Given the description of an element on the screen output the (x, y) to click on. 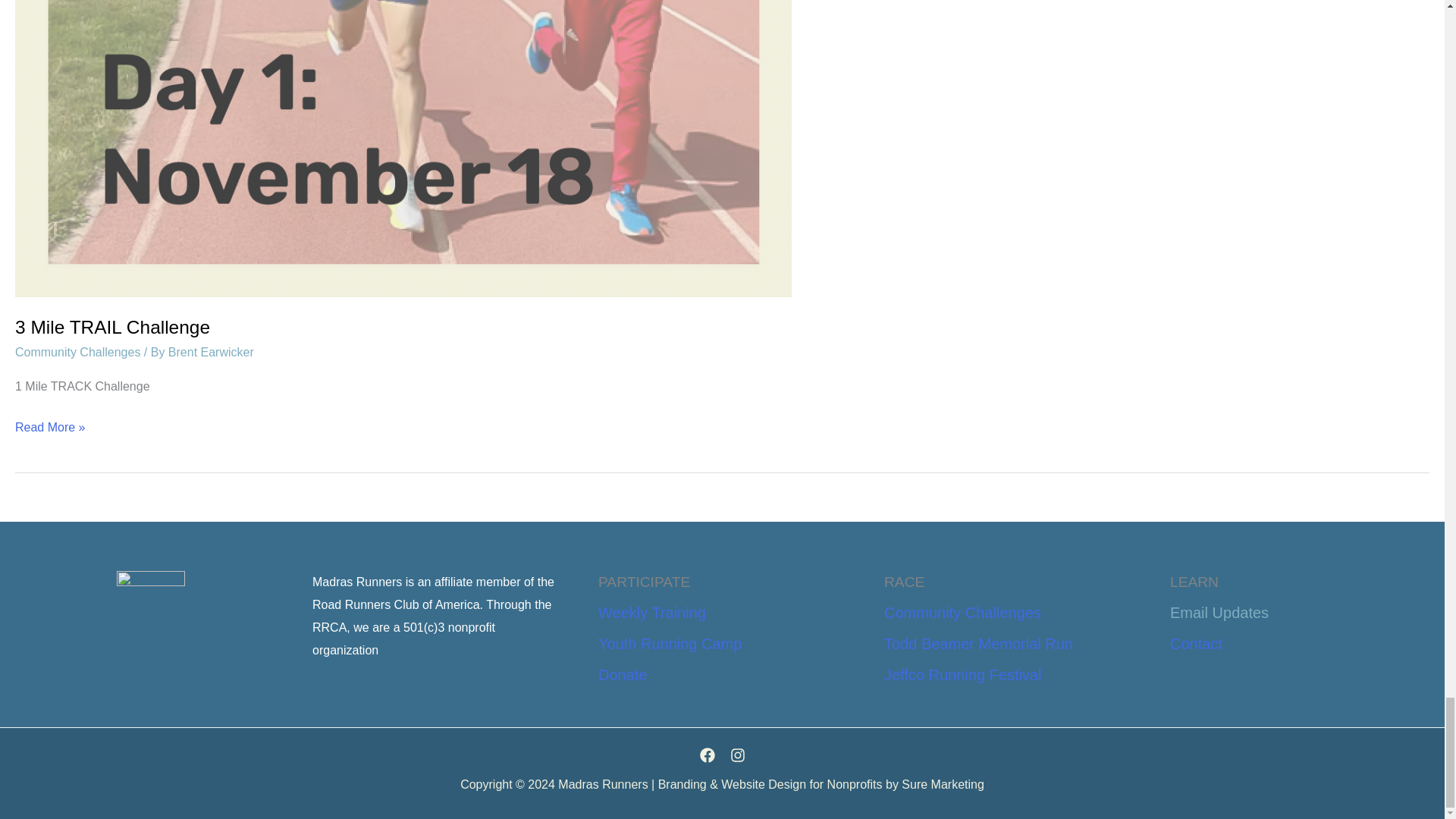
View all posts by Brent Earwicker (210, 351)
